Given the description of an element on the screen output the (x, y) to click on. 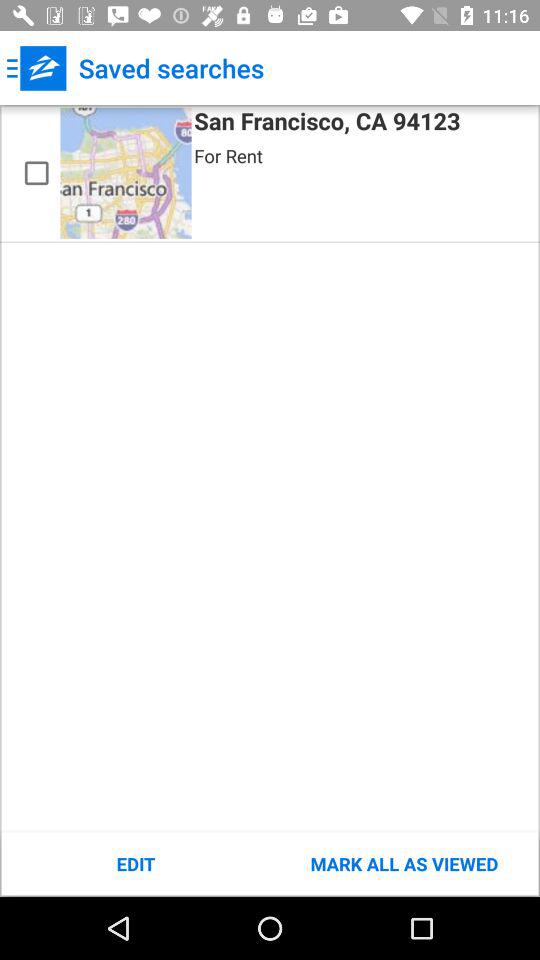
select saved search (36, 173)
